Given the description of an element on the screen output the (x, y) to click on. 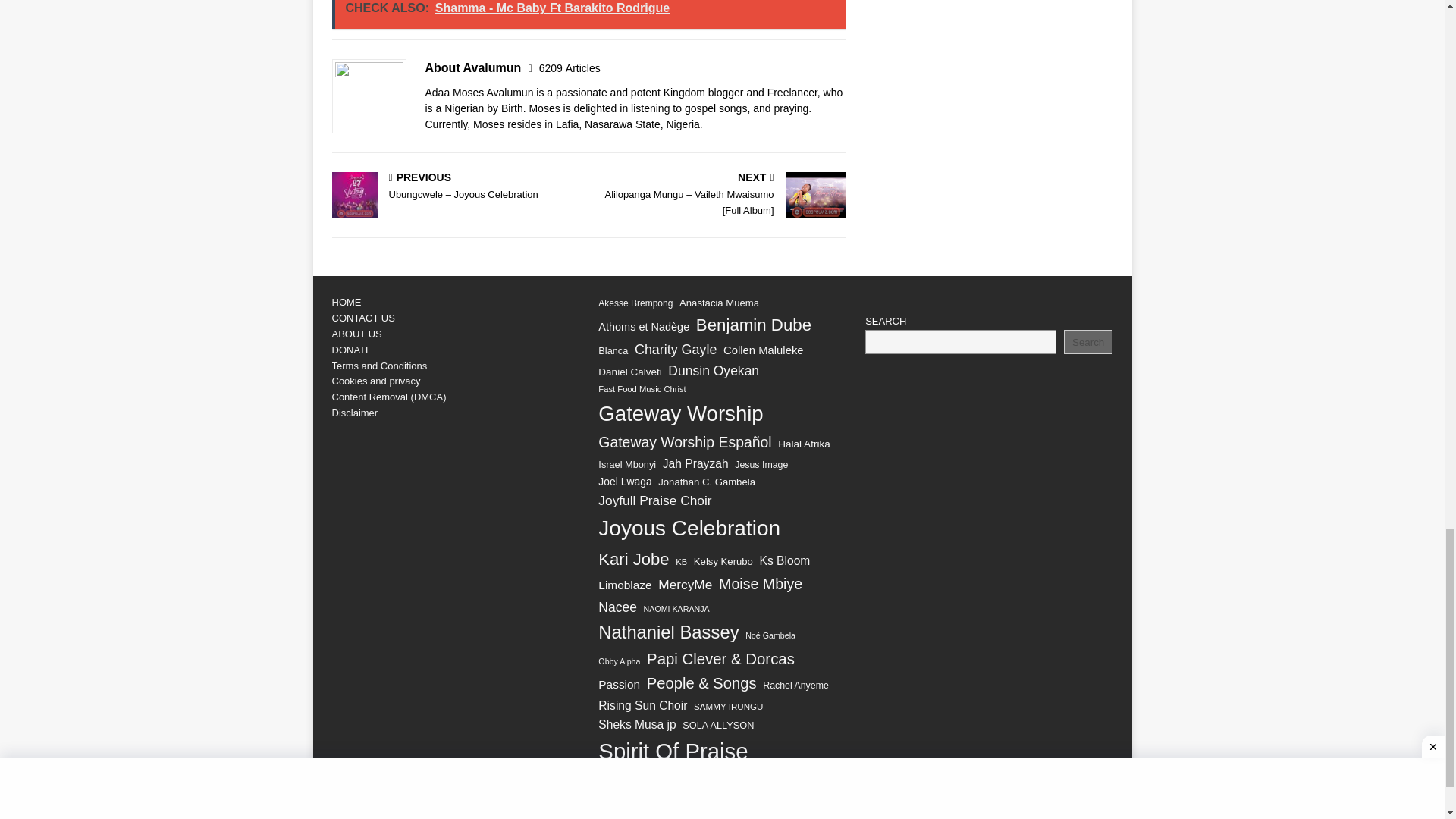
More articles written by Avalumun' (568, 68)
6209 Articles (568, 68)
CHECK ALSO:  Shamma - Mc Baby Ft Barakito Rodrigue (589, 14)
